Given the description of an element on the screen output the (x, y) to click on. 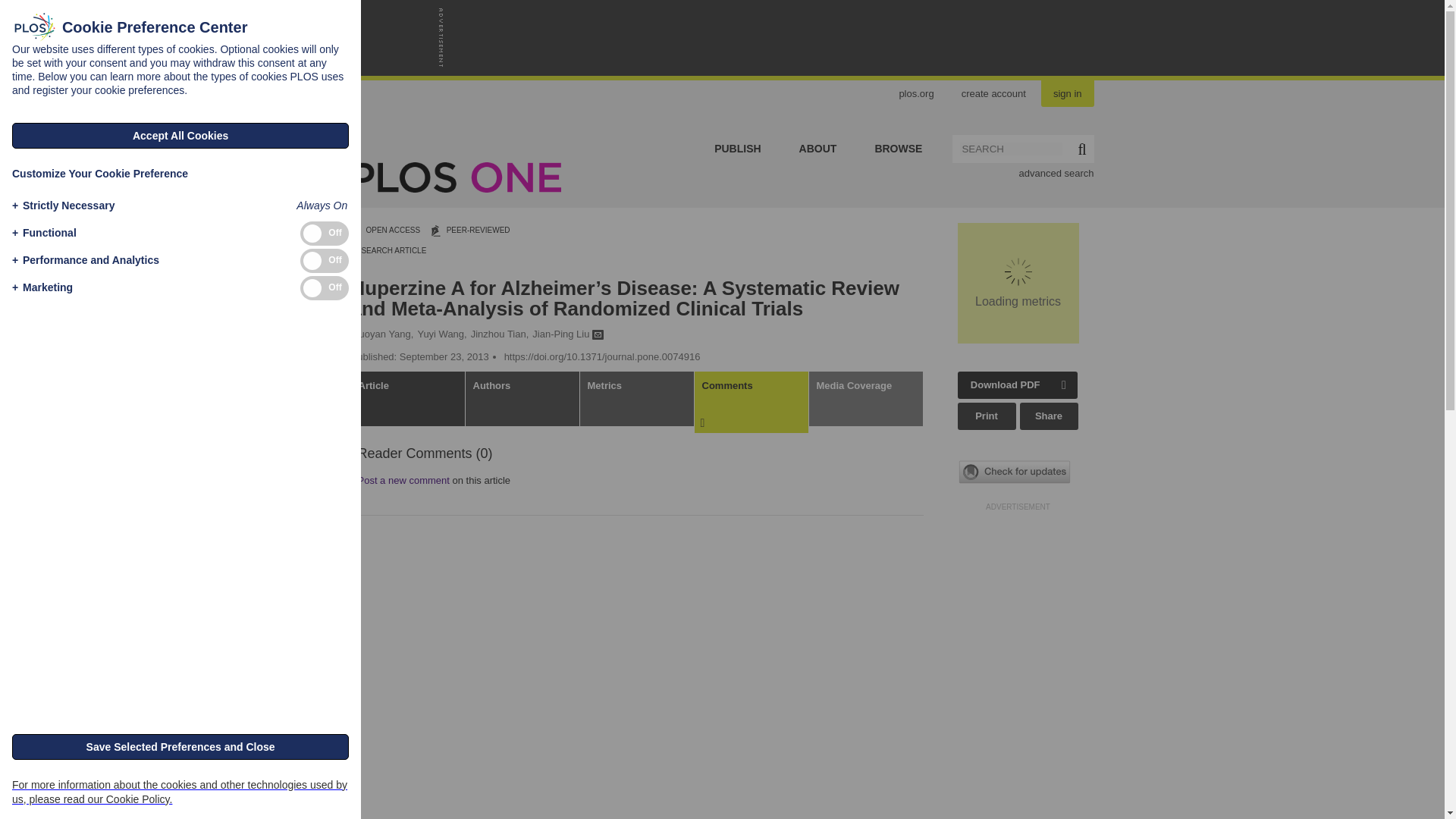
Authors (522, 398)
Comments (751, 402)
create account (993, 91)
Guoyan Yang, (382, 334)
BROWSE (898, 148)
Yuyi Wang, (440, 334)
advanced search (1055, 171)
Article (407, 398)
Metrics (636, 398)
Download PDF (1006, 384)
Jian-Ping Liu (568, 334)
Jinzhou Tian, (499, 334)
ABOUT (817, 148)
PLOS ONE (635, 177)
plos.org (915, 91)
